Given the description of an element on the screen output the (x, y) to click on. 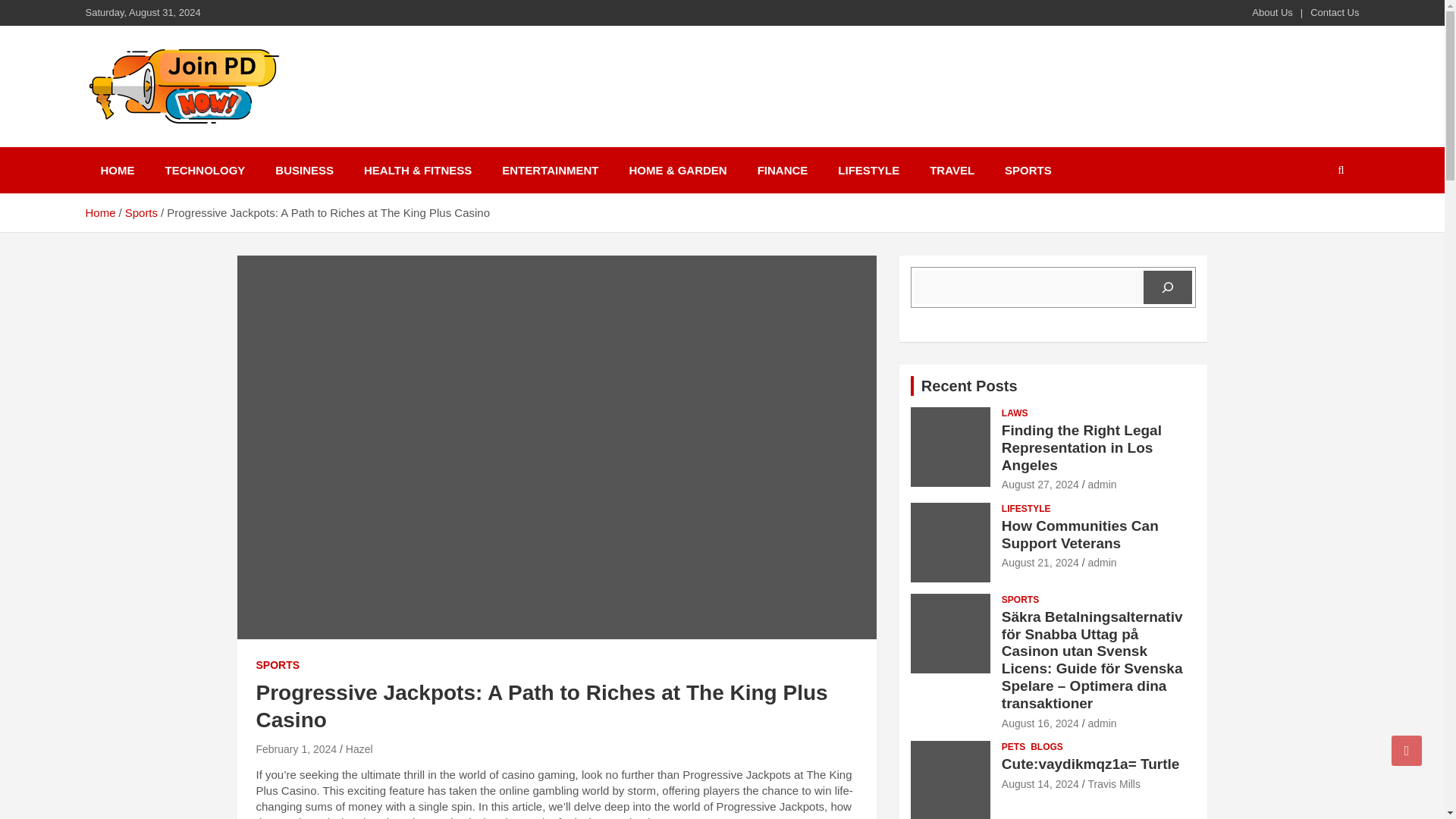
TECHNOLOGY (204, 170)
Finding the Right Legal Representation in Los Angeles (1081, 447)
SPORTS (1028, 170)
LIFESTYLE (868, 170)
How Communities Can Support Veterans (1039, 562)
Sports (141, 212)
Joinpd Now (170, 143)
Home (99, 212)
Recent Posts (969, 385)
February 1, 2024 (296, 748)
